Given the description of an element on the screen output the (x, y) to click on. 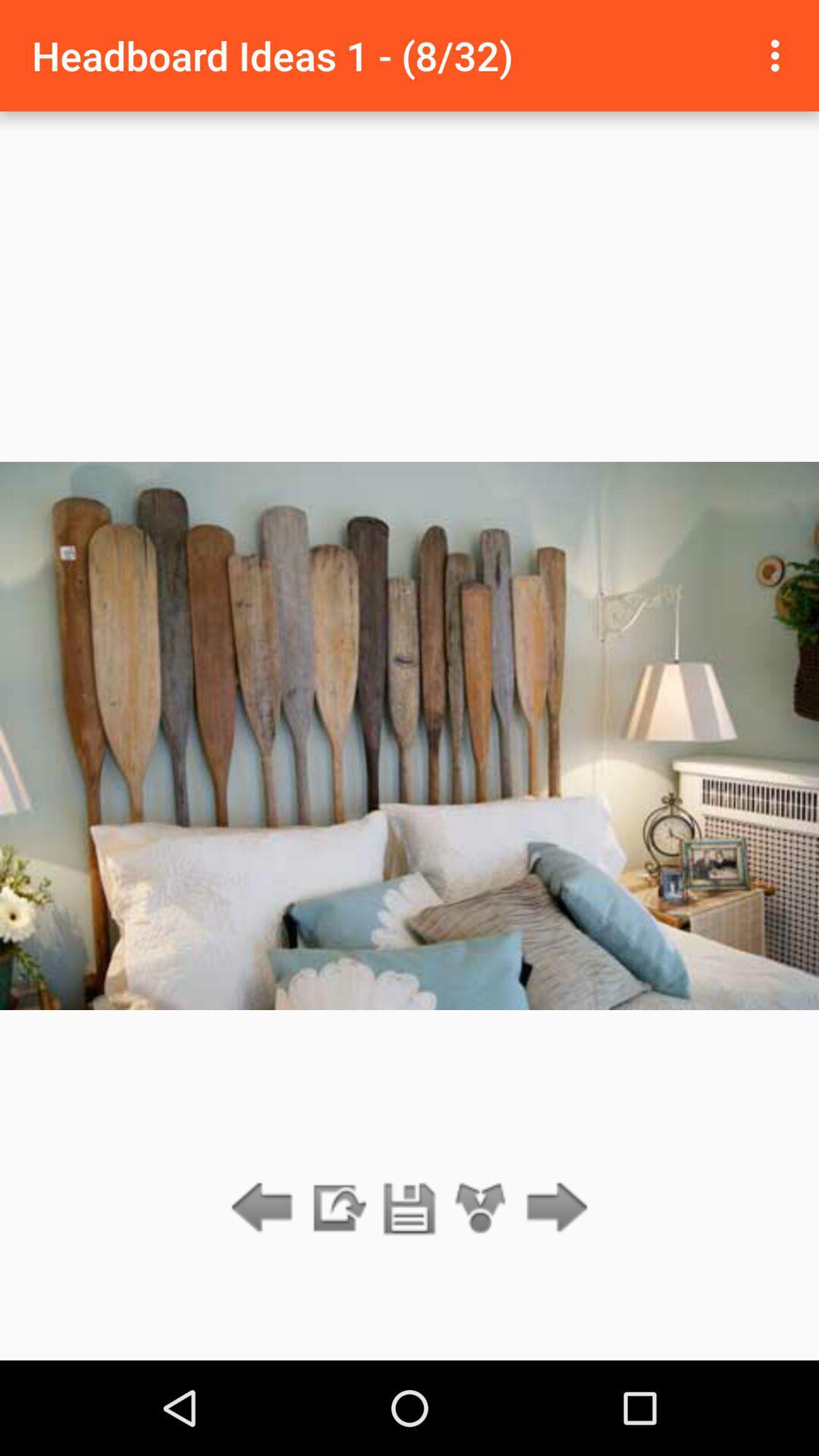
save your idea (409, 1208)
